Given the description of an element on the screen output the (x, y) to click on. 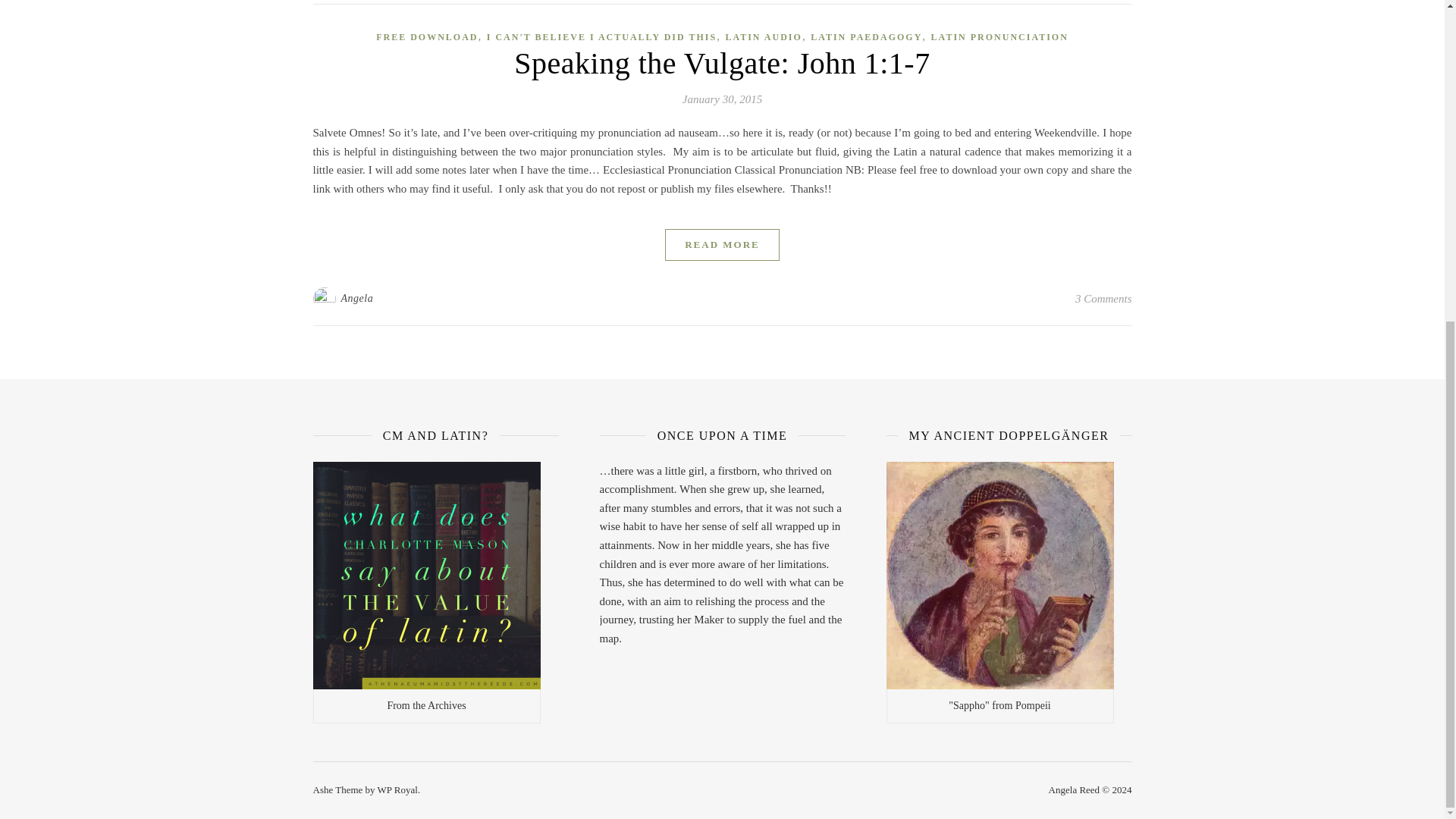
CM and Latin? (426, 575)
Posts by Angela (357, 298)
